Given the description of an element on the screen output the (x, y) to click on. 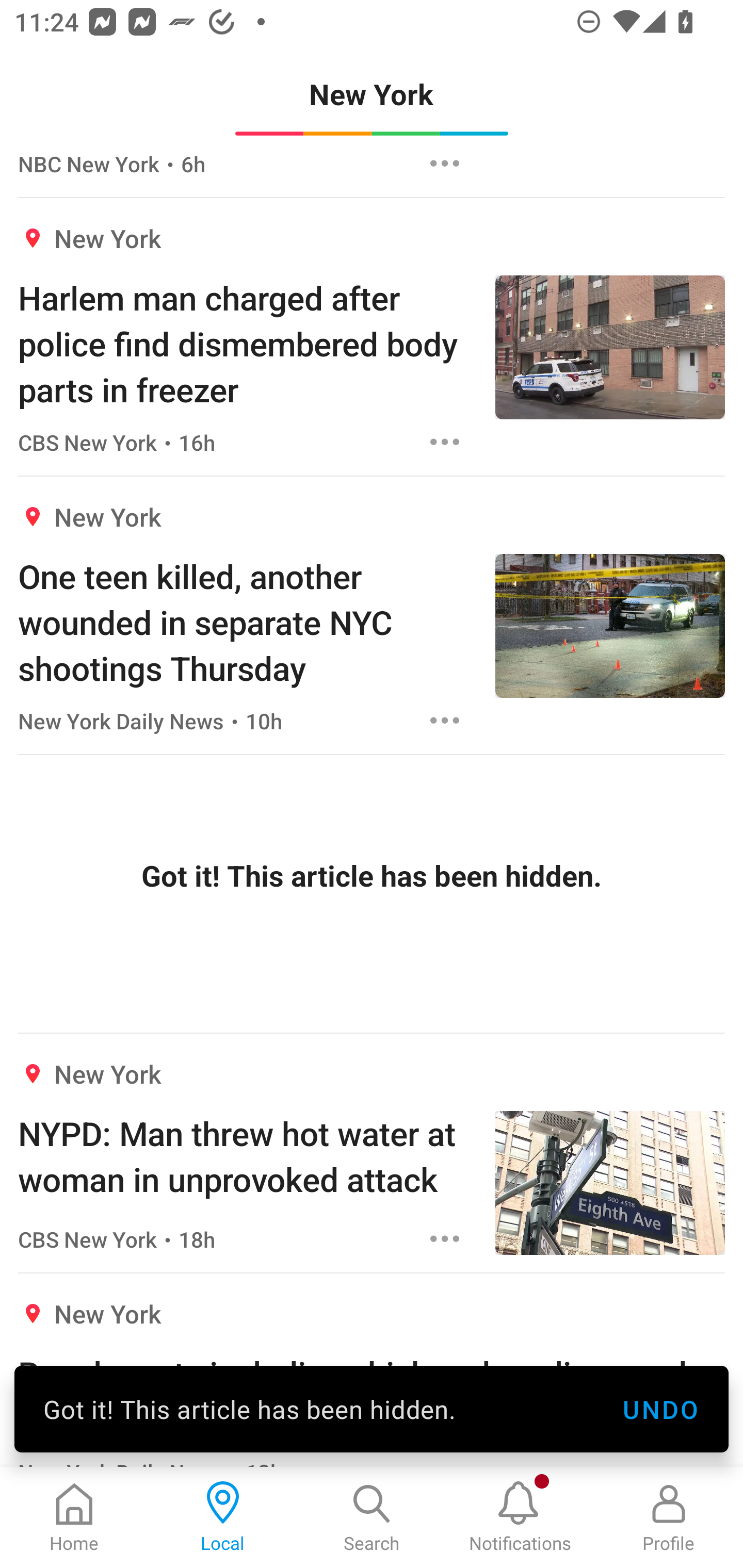
Options (444, 164)
Options (444, 442)
Options (444, 720)
Options (444, 998)
Options (444, 1238)
UNDO (660, 1408)
Home (74, 1517)
Search (371, 1517)
Notifications, New notification Notifications (519, 1517)
Profile (668, 1517)
